Given the description of an element on the screen output the (x, y) to click on. 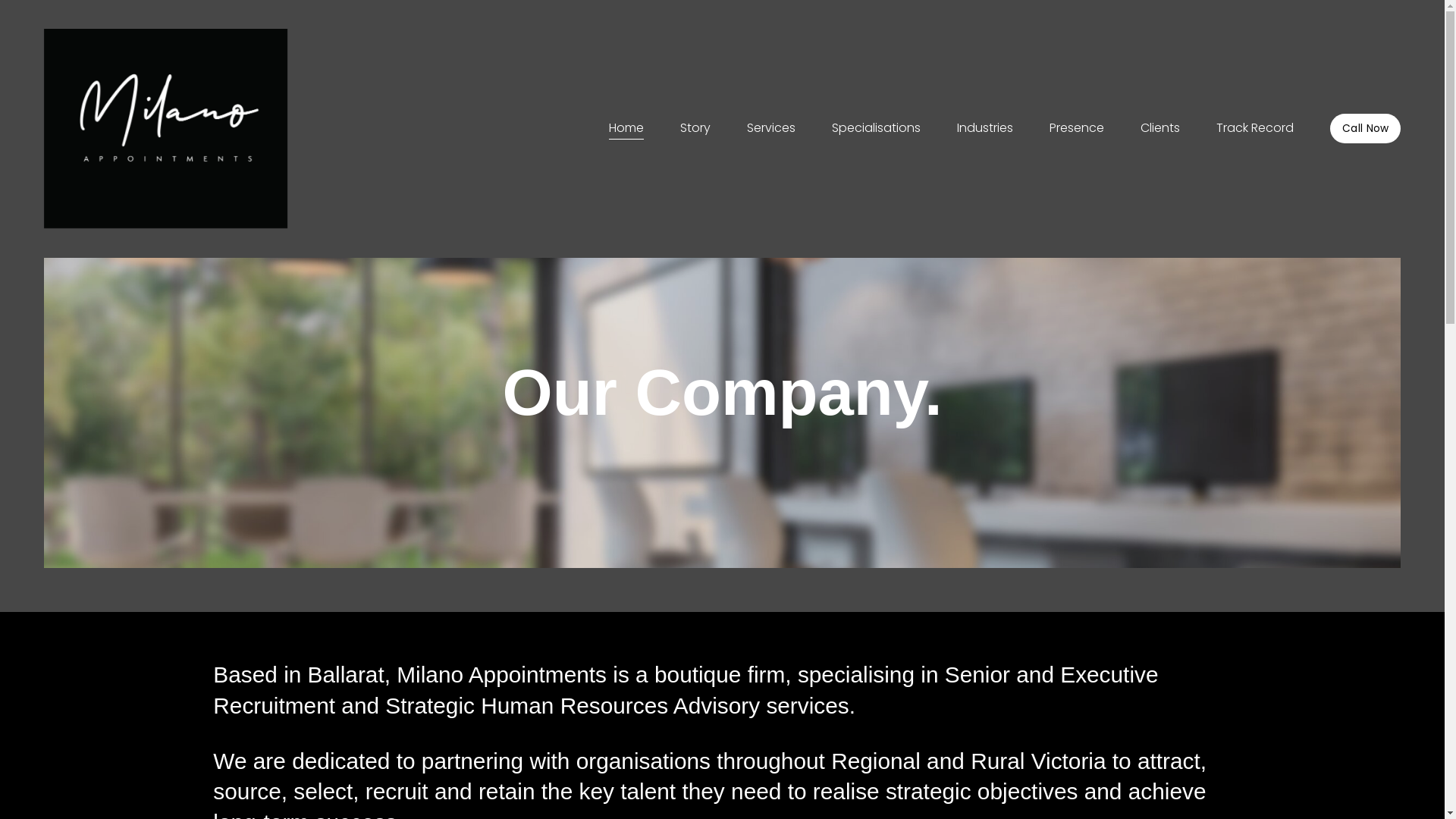
Home Element type: text (625, 128)
Clients Element type: text (1159, 128)
Specialisations Element type: text (875, 128)
Call Now Element type: text (1365, 128)
Services Element type: text (770, 128)
Presence Element type: text (1076, 128)
Industries Element type: text (985, 128)
Story Element type: text (695, 128)
Track Record Element type: text (1254, 128)
